Given the description of an element on the screen output the (x, y) to click on. 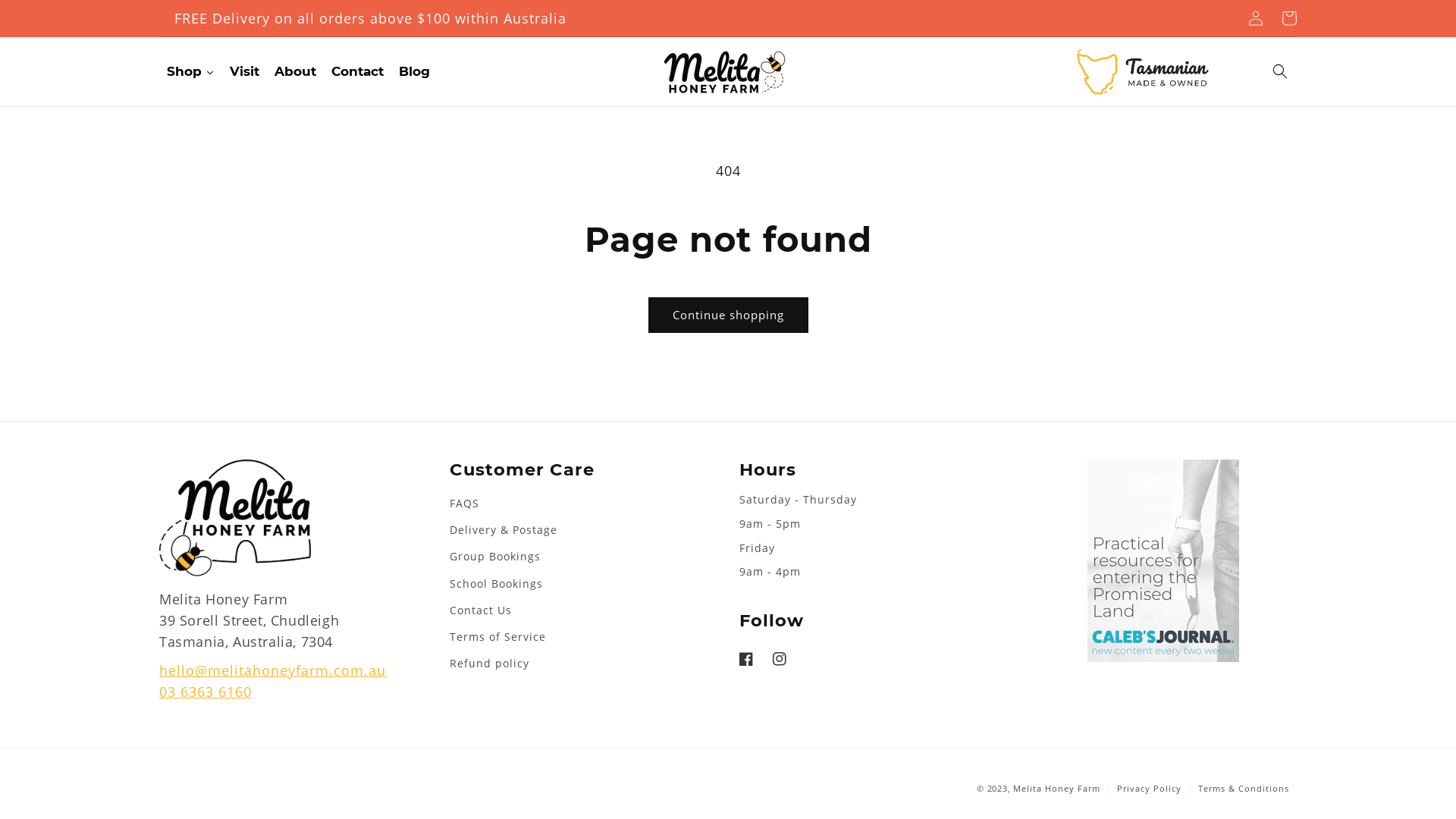
Contact Element type: text (357, 72)
Delivery & Postage Element type: text (502, 529)
Contact Us Element type: text (479, 609)
Melita Honey Farm Element type: text (1056, 788)
hello@melitahoneyfarm.com.au Element type: text (272, 670)
Shop Element type: text (190, 72)
Log in Element type: text (1255, 17)
Continue shopping Element type: text (728, 315)
Facebook Element type: text (750, 658)
Terms & Conditions Element type: text (1243, 789)
Instagram Element type: text (779, 658)
Group Bookings Element type: text (493, 555)
Terms of Service Element type: text (496, 636)
Privacy Policy Element type: text (1149, 789)
Blog Element type: text (414, 72)
About Element type: text (294, 72)
FAQS Element type: text (463, 504)
Refund policy Element type: text (488, 662)
03 6363 6160 Element type: text (205, 691)
Visit Element type: text (244, 72)
School Bookings Element type: text (495, 583)
Cart Element type: text (1288, 17)
